Given the description of an element on the screen output the (x, y) to click on. 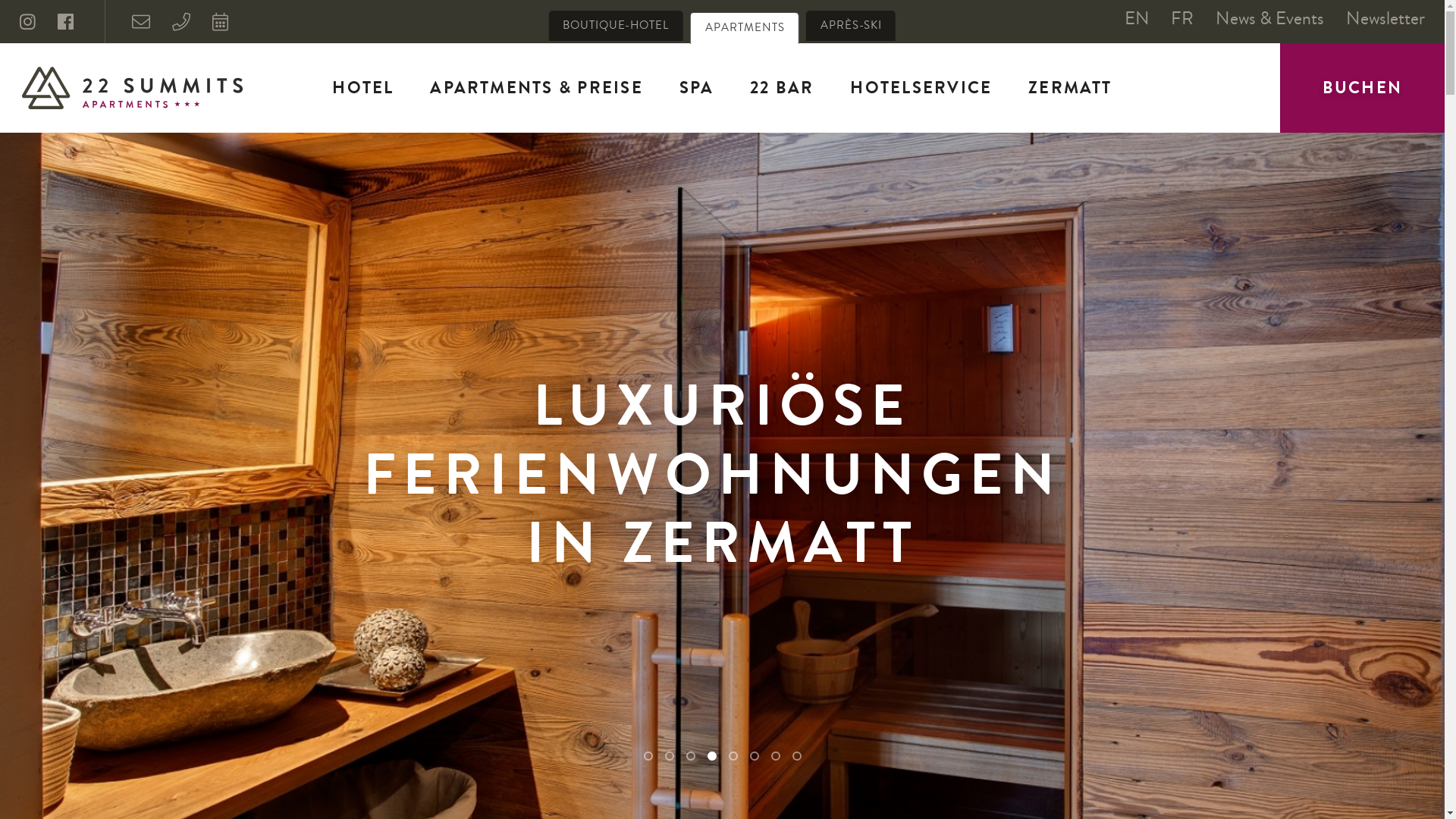
Newsletter Element type: text (1385, 18)
News & Events Element type: text (1269, 18)
BUCHEN Element type: text (1362, 87)
8 Element type: text (795, 755)
2 Element type: text (668, 755)
APARTMENTS & PREISE Element type: text (536, 87)
FR Element type: text (1181, 18)
EN Element type: text (1136, 18)
BOUTIQUE-HOTEL Element type: text (616, 25)
HOTELSERVICE Element type: text (921, 87)
ZERMATT Element type: text (1070, 87)
SPA Element type: text (696, 87)
7 Element type: text (774, 755)
1 Element type: text (647, 755)
22 BAR Element type: text (782, 87)
5 Element type: text (732, 755)
4 Element type: text (710, 755)
APARTMENTS Element type: text (744, 28)
HOTEL Element type: text (363, 87)
6 Element type: text (753, 755)
3 Element type: text (689, 755)
